Given the description of an element on the screen output the (x, y) to click on. 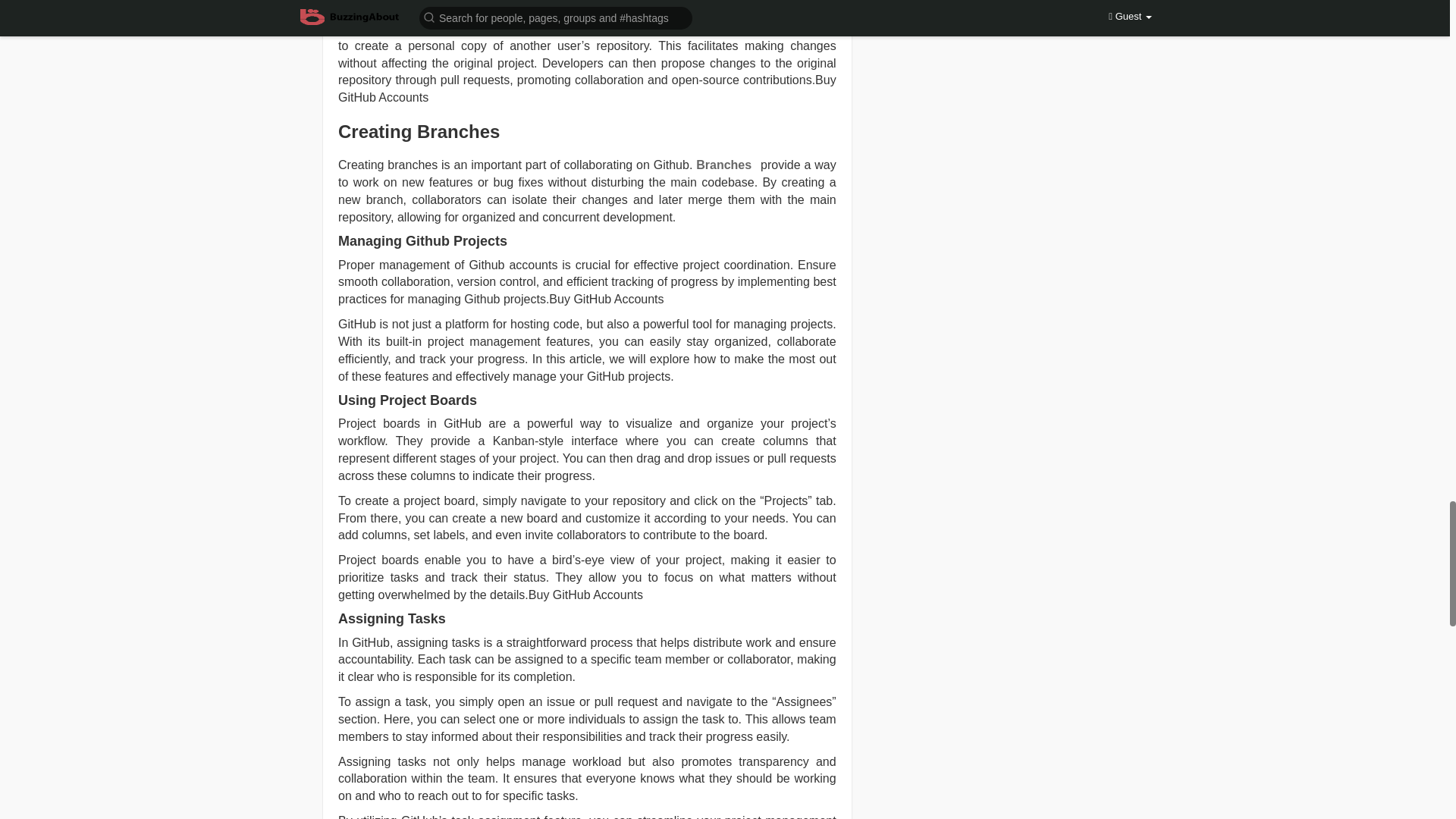
Branches  (727, 164)
